Given the description of an element on the screen output the (x, y) to click on. 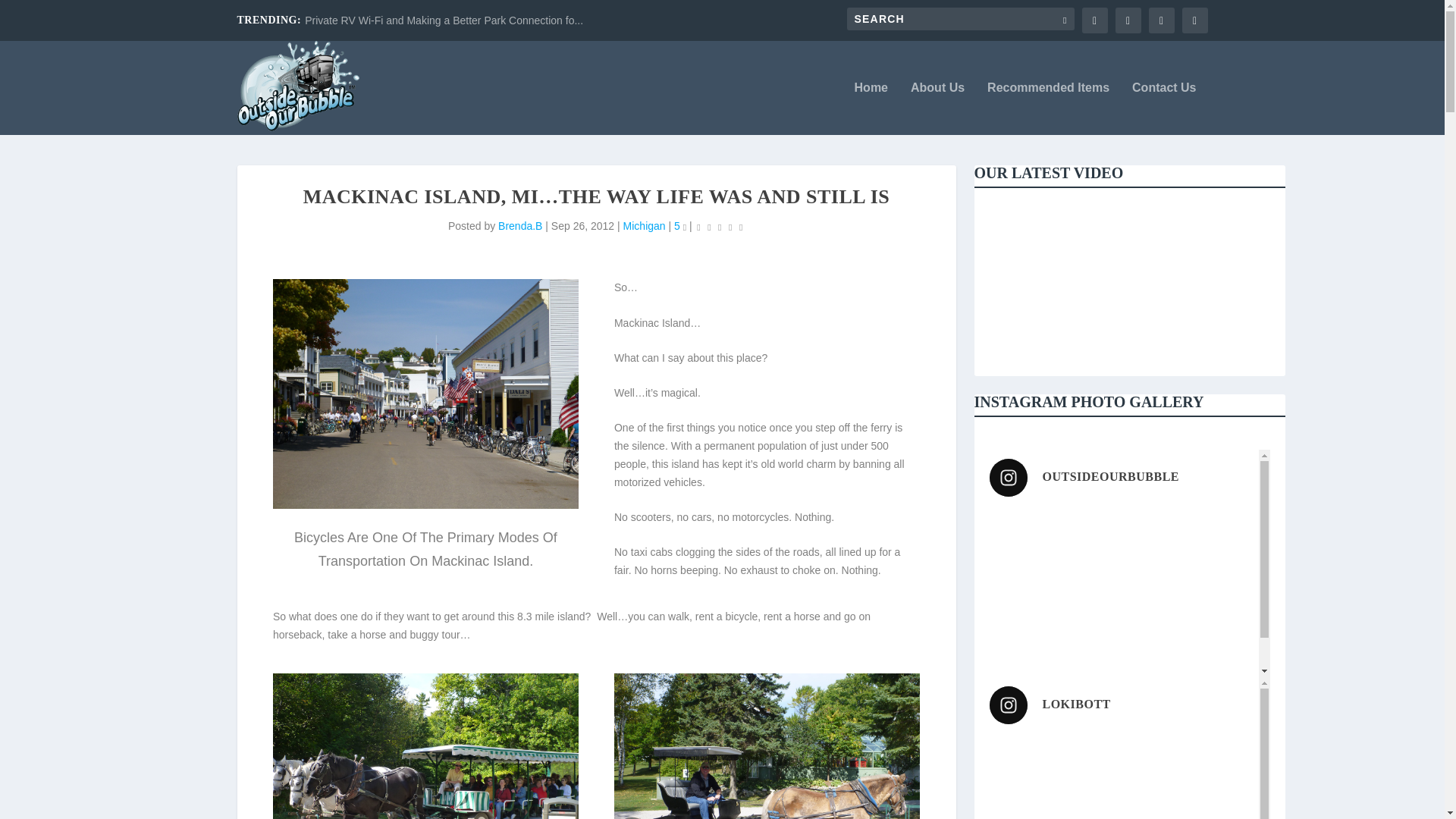
Recommended Items (1048, 108)
Brenda.B (519, 225)
Search for: (959, 18)
About Us (937, 108)
Michigan (644, 225)
Private RV Wi-Fi and Making a Better Park Connection fo... (443, 20)
Posts by Brenda.B (519, 225)
Contact Us (1163, 108)
5 (679, 225)
